Given the description of an element on the screen output the (x, y) to click on. 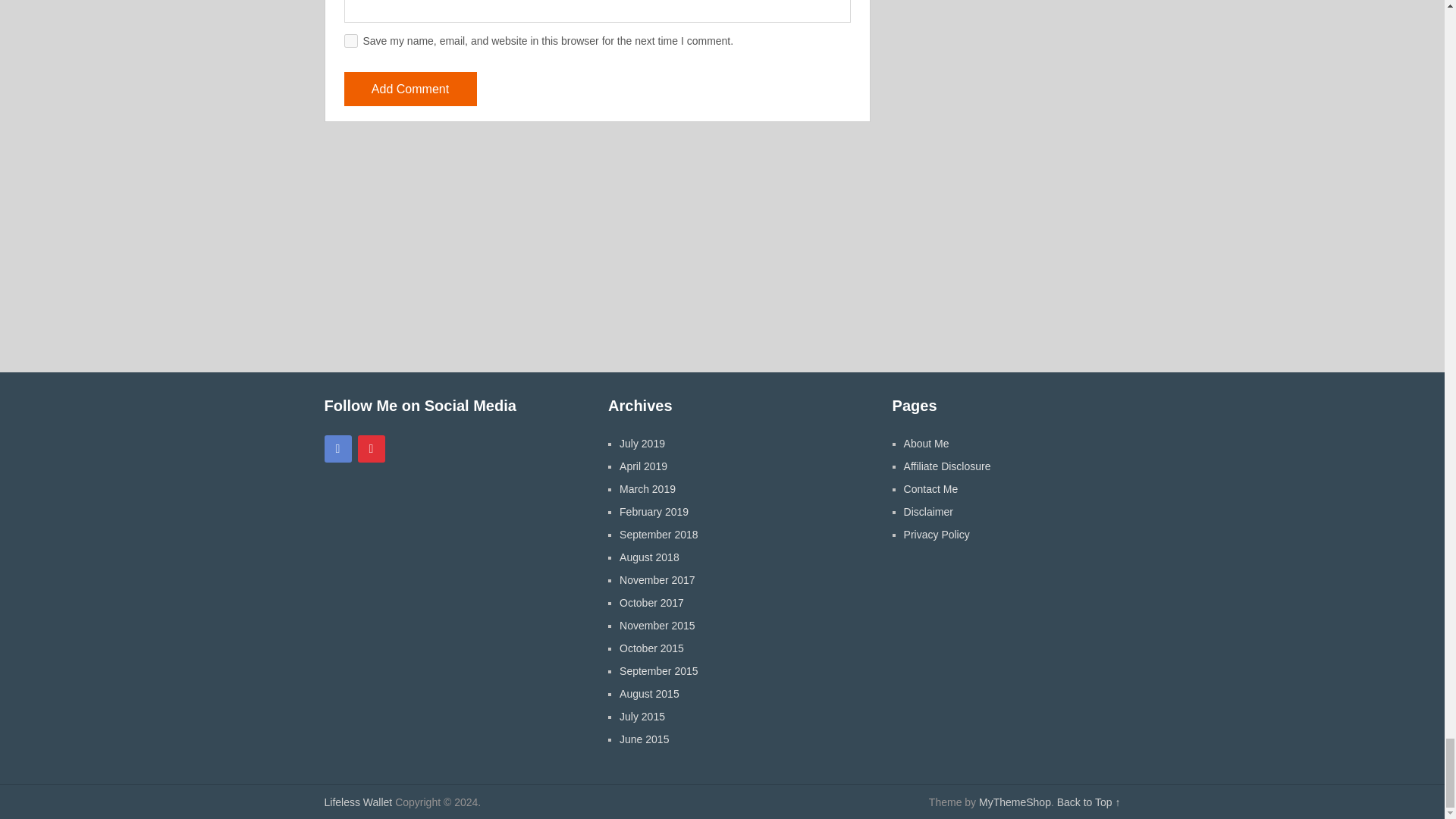
yes (350, 40)
Pinterest (371, 448)
Facebook (338, 448)
Add Comment (410, 89)
Exposing Scams and Reviving Your Wallet (358, 802)
